Given the description of an element on the screen output the (x, y) to click on. 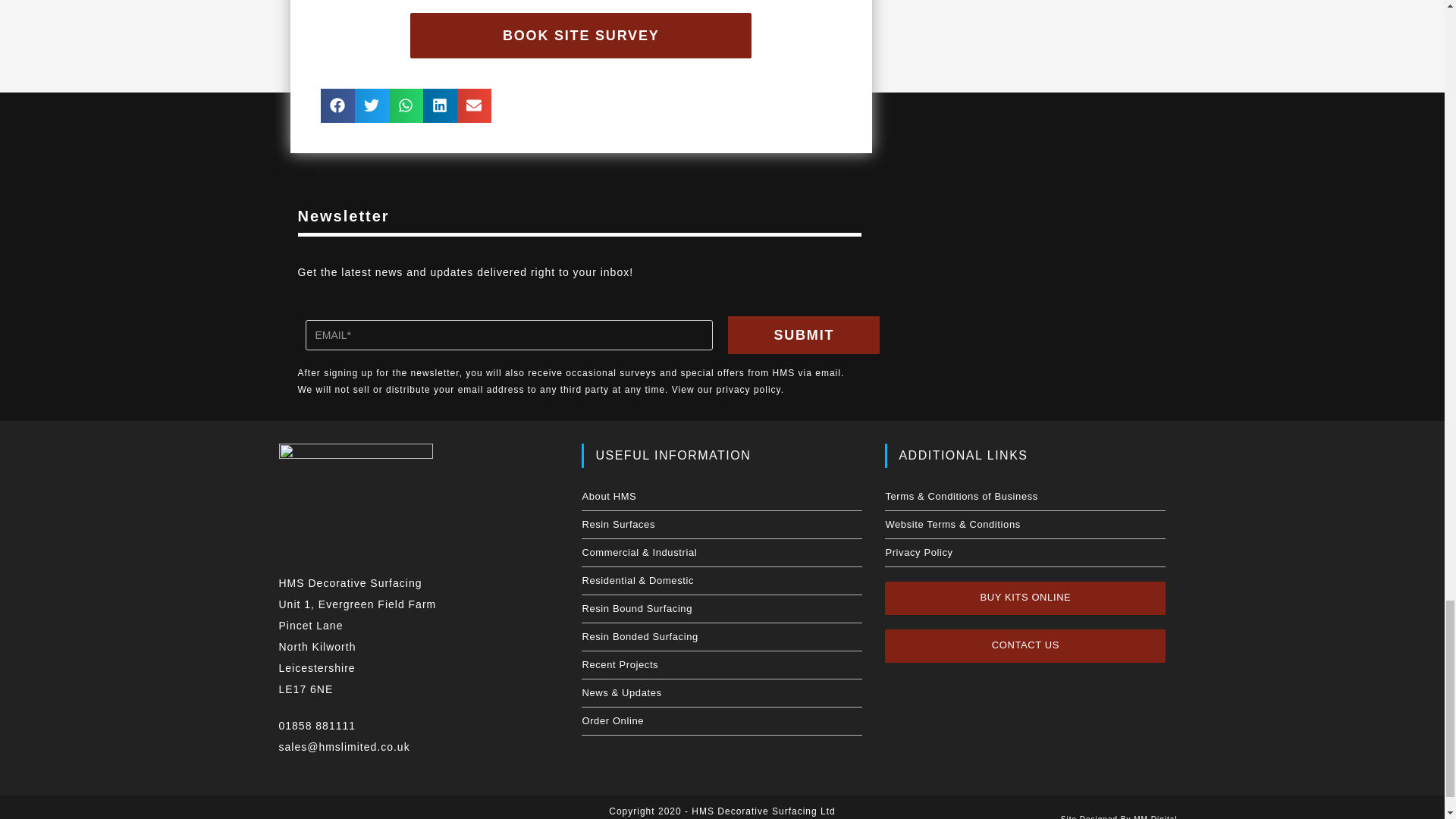
Submit (803, 334)
